Given the description of an element on the screen output the (x, y) to click on. 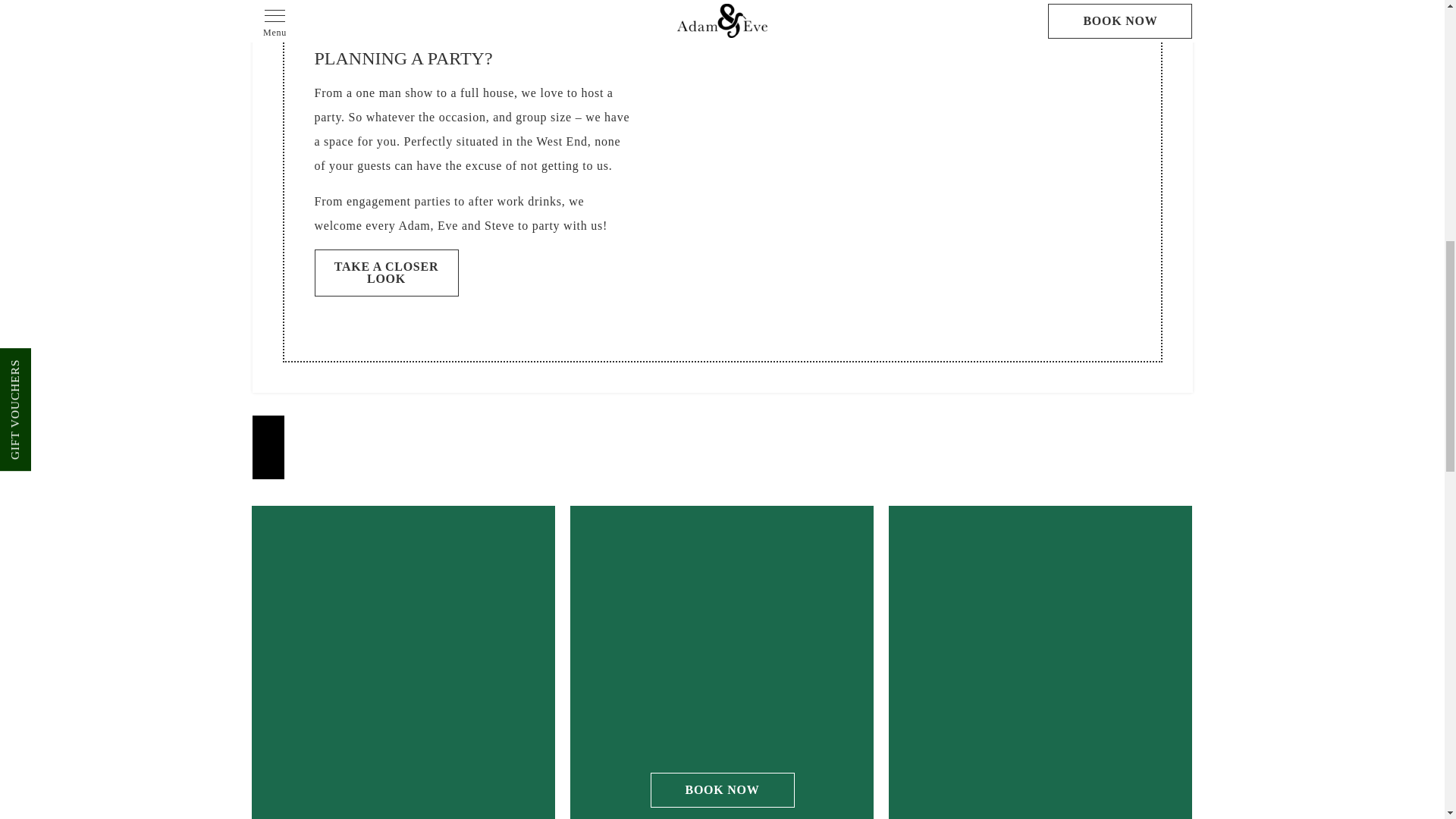
Take a closer look (386, 272)
TAKE A CLOSER LOOK (386, 272)
